Given the description of an element on the screen output the (x, y) to click on. 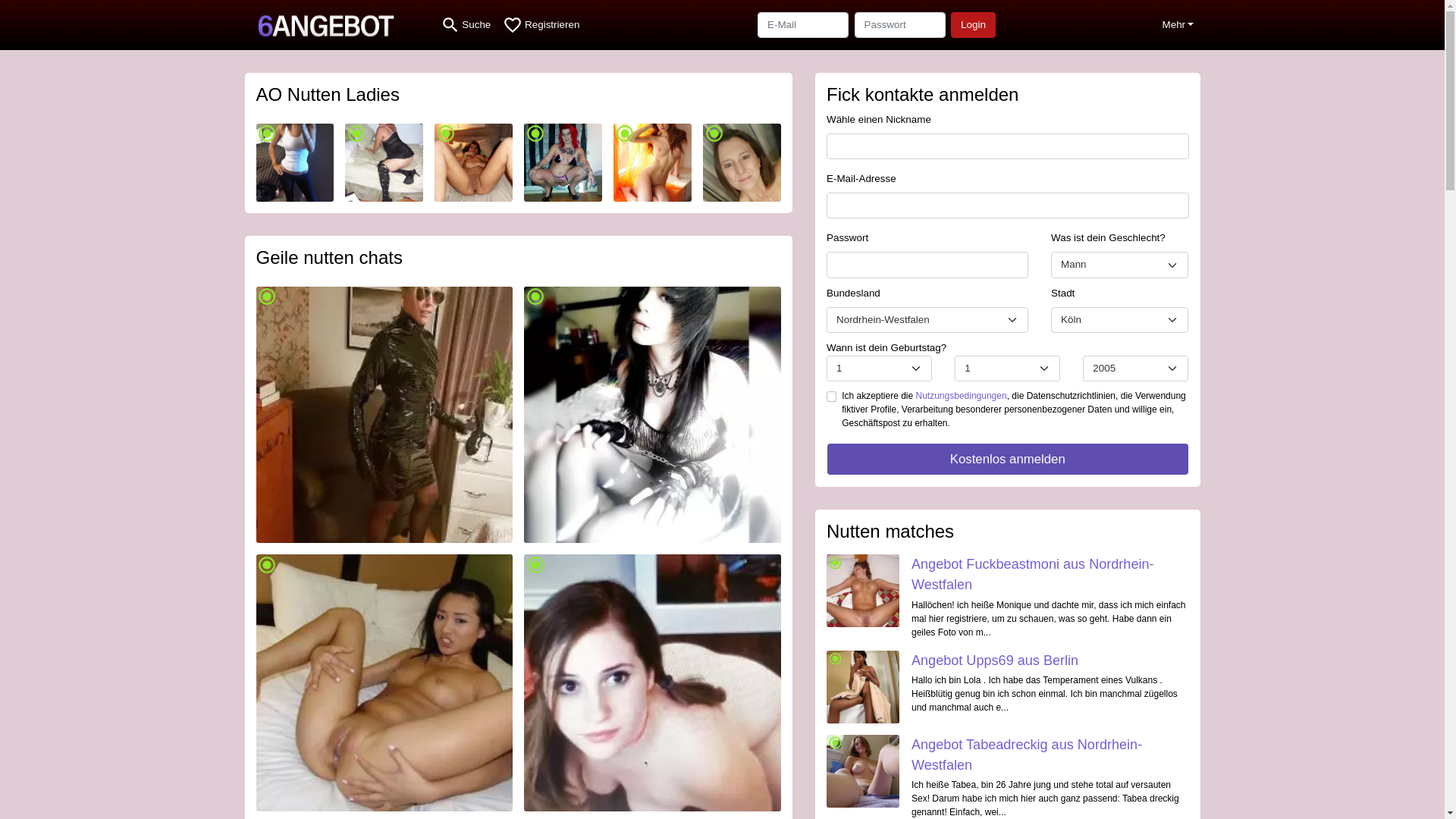
radio_button_checked Element type: text (652, 162)
radio_button_checked Element type: text (741, 162)
radio_button_checked Element type: text (862, 590)
search
Suche Element type: text (464, 25)
radio_button_checked Element type: text (384, 682)
Nutzungsbedingungen Element type: text (961, 395)
radio_button_checked Element type: text (862, 770)
radio_button_checked Element type: text (295, 162)
radio_button_checked Element type: text (384, 162)
radio_button_checked Element type: text (862, 686)
Angebot Fuckbeastmoni aus Nordrhein-Westfalen Element type: text (1032, 574)
radio_button_checked Element type: text (473, 162)
radio_button_checked Element type: text (652, 414)
Mehr Element type: text (1178, 24)
favorite_border
Registrieren Element type: text (540, 25)
radio_button_checked Element type: text (563, 162)
Login Element type: text (972, 24)
radio_button_checked Element type: text (652, 682)
Angebot Upps69 aus Berlin Element type: text (994, 660)
Kostenlos anmelden Element type: text (1007, 458)
radio_button_checked Element type: text (384, 414)
Angebot Tabeadreckig aus Nordrhein-Westfalen Element type: text (1026, 754)
